Given the description of an element on the screen output the (x, y) to click on. 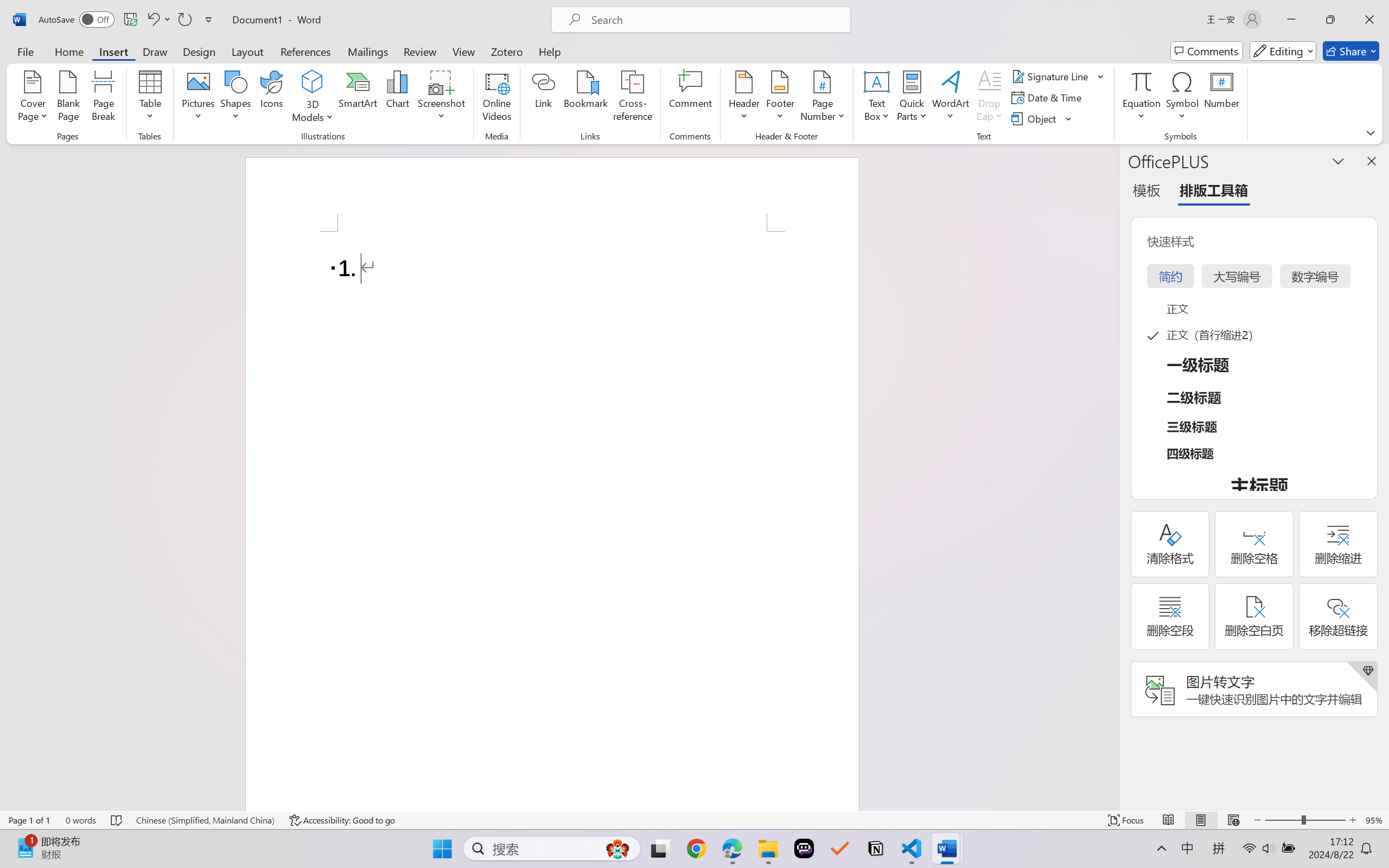
SmartArt... (358, 97)
Screenshot (441, 97)
Number... (1221, 97)
